Given the description of an element on the screen output the (x, y) to click on. 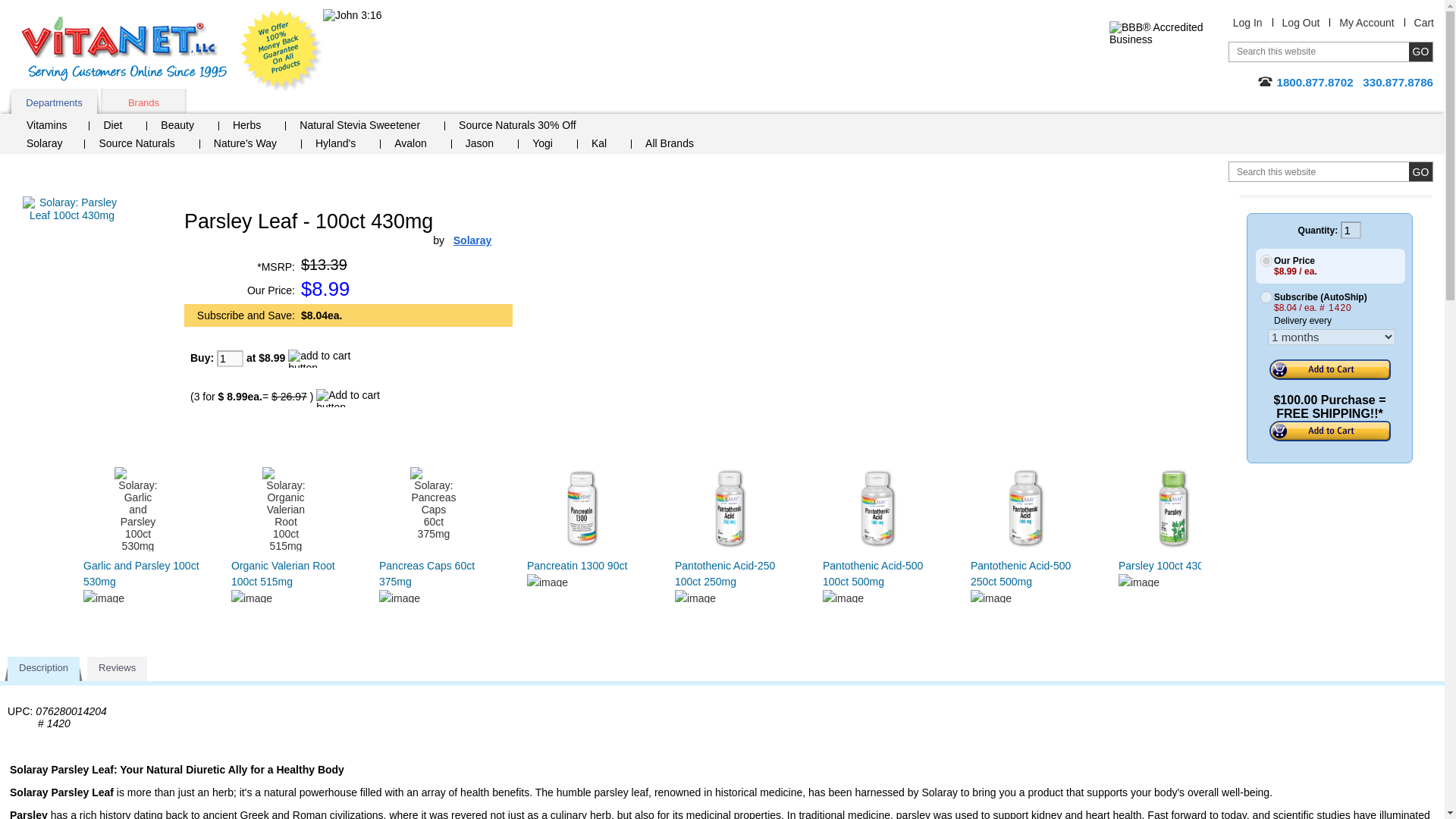
go (1420, 51)
Organic Valerian Root 100ct 515mg (282, 573)
Vitamins (53, 126)
My Account (1366, 22)
Parsley 100ct 430mg (1168, 565)
All Brands (674, 144)
Add to Cart      (1329, 430)
1 (229, 358)
1 (1350, 230)
Natural Stevia Sweetener (365, 126)
